Given the description of an element on the screen output the (x, y) to click on. 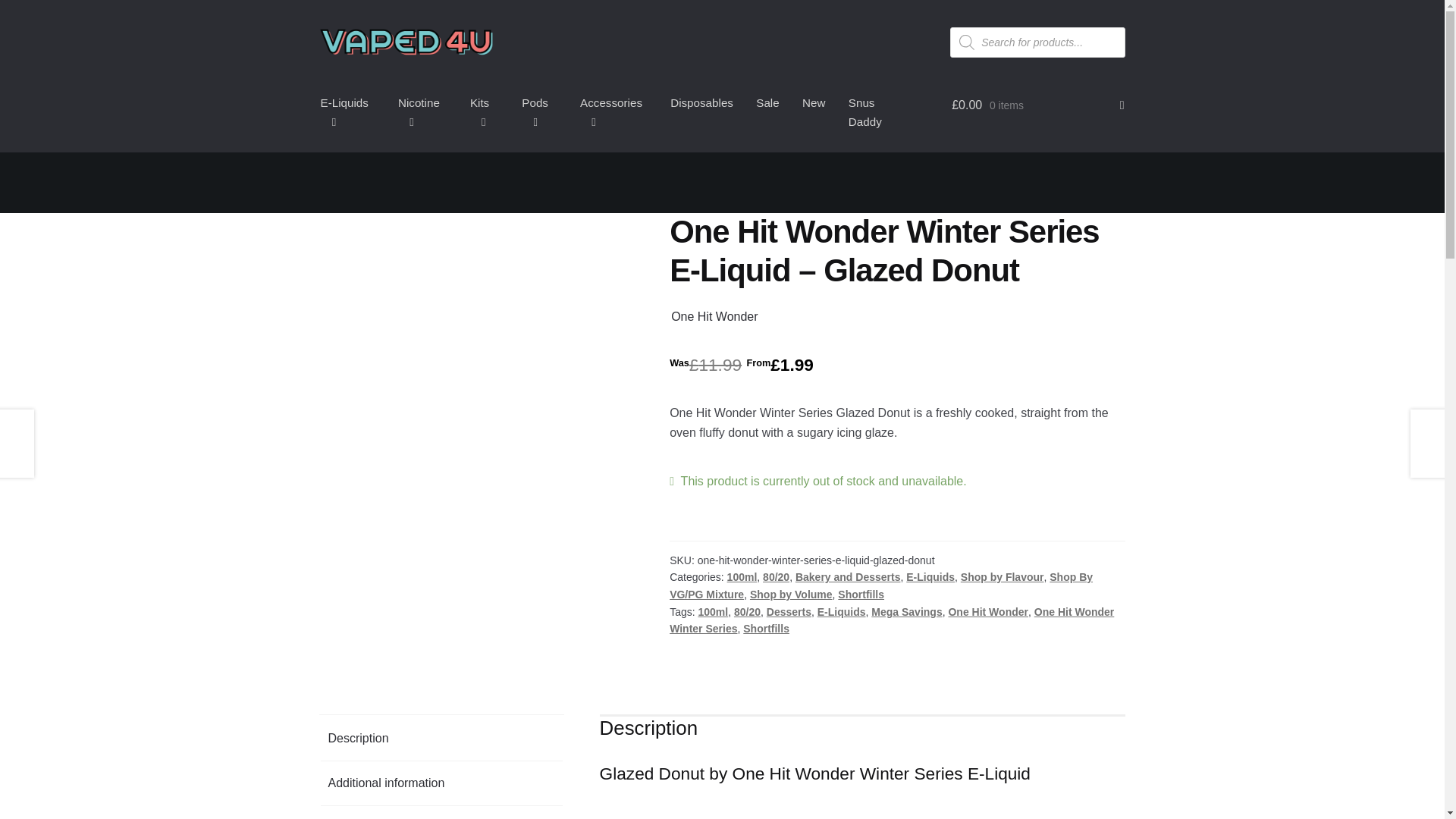
Accessories (614, 112)
E-Liquids (346, 112)
View your shopping basket (1038, 105)
Disposables (701, 103)
Nicotine (422, 112)
